Given the description of an element on the screen output the (x, y) to click on. 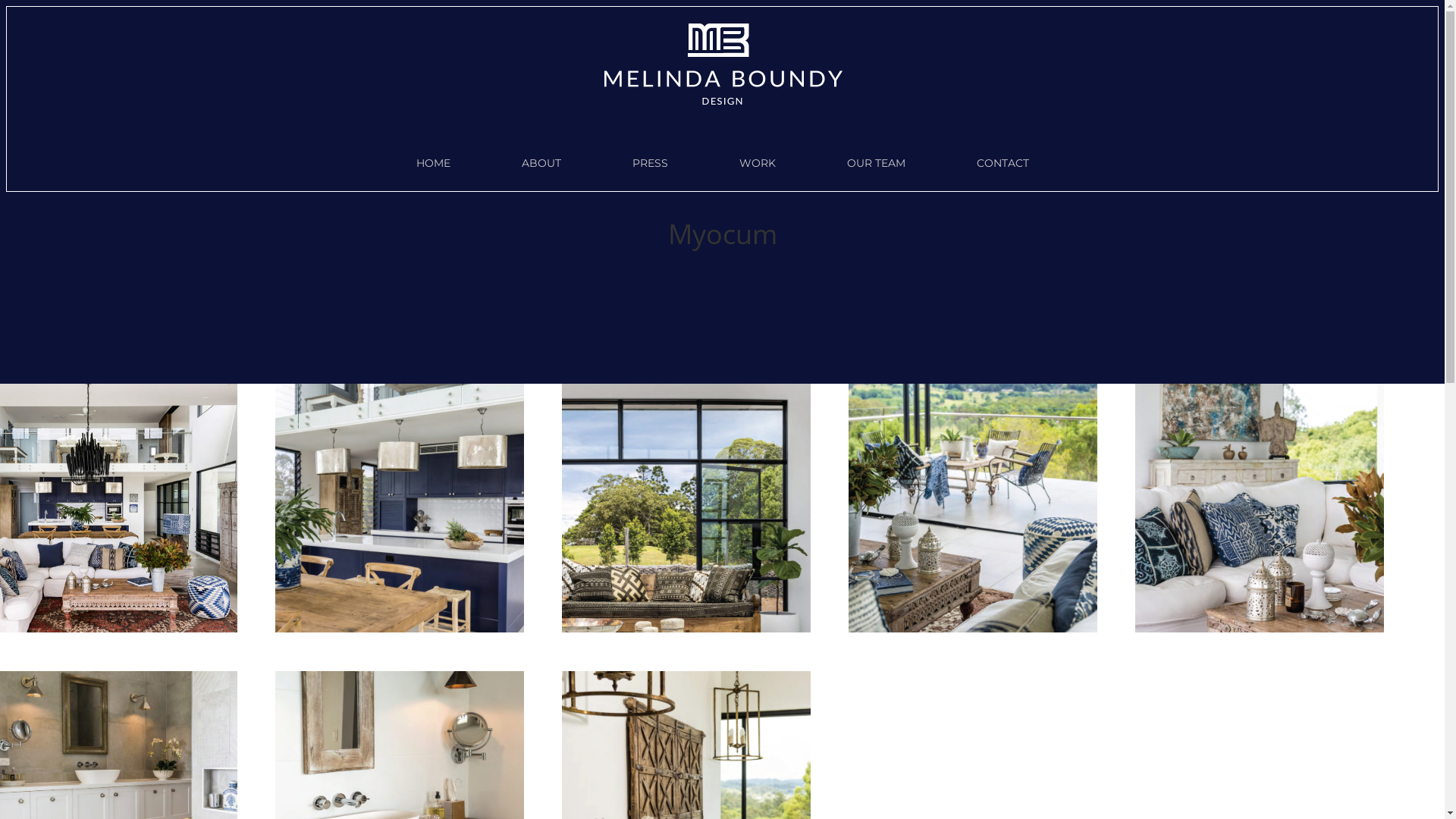
PRESS Element type: text (649, 163)
CONTACT Element type: text (1001, 163)
ABOUT Element type: text (540, 163)
OUR TEAM Element type: text (875, 163)
WORK Element type: text (757, 163)
HOME Element type: text (433, 163)
